Given the description of an element on the screen output the (x, y) to click on. 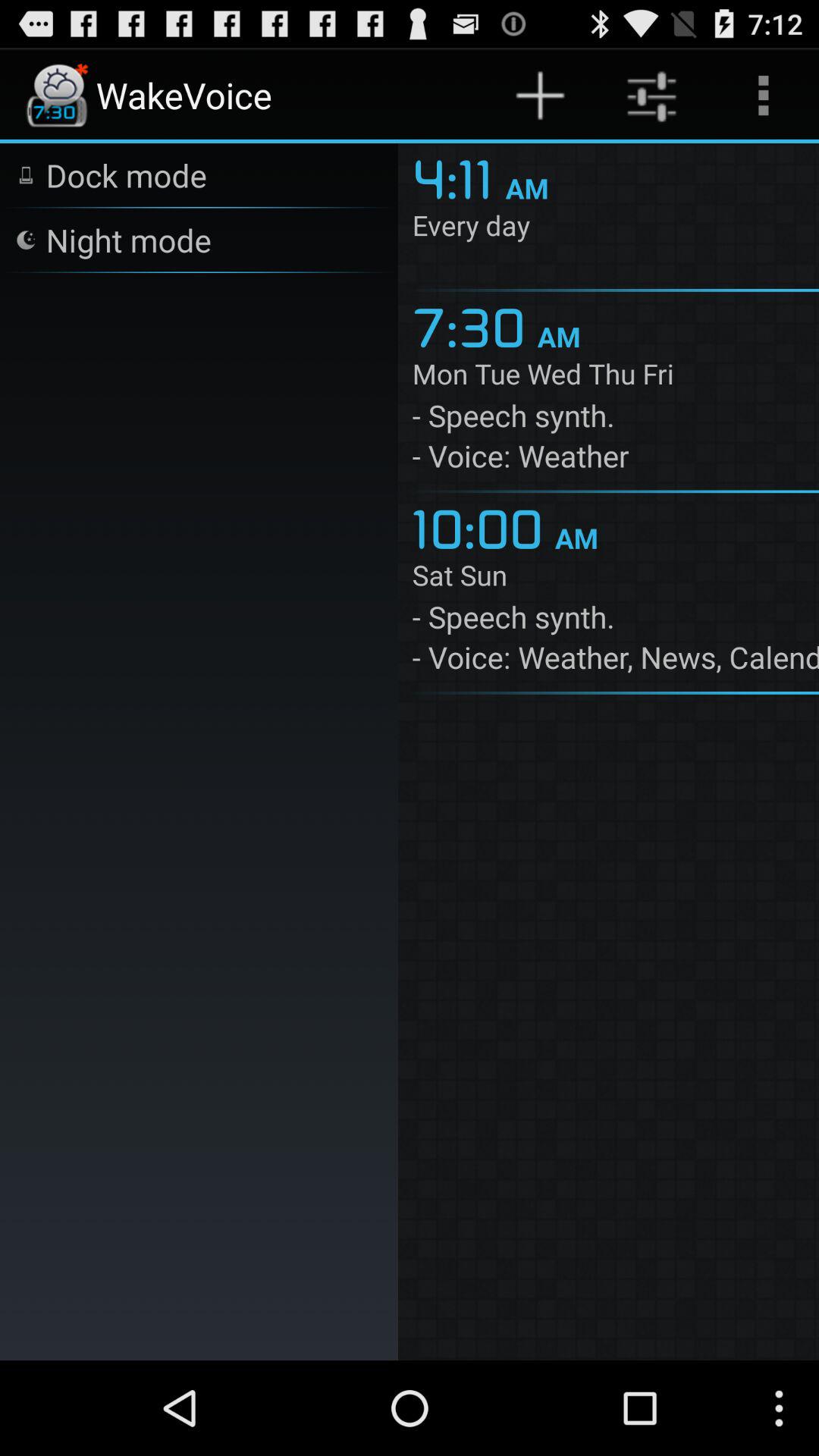
choose the app at the center (483, 526)
